Given the description of an element on the screen output the (x, y) to click on. 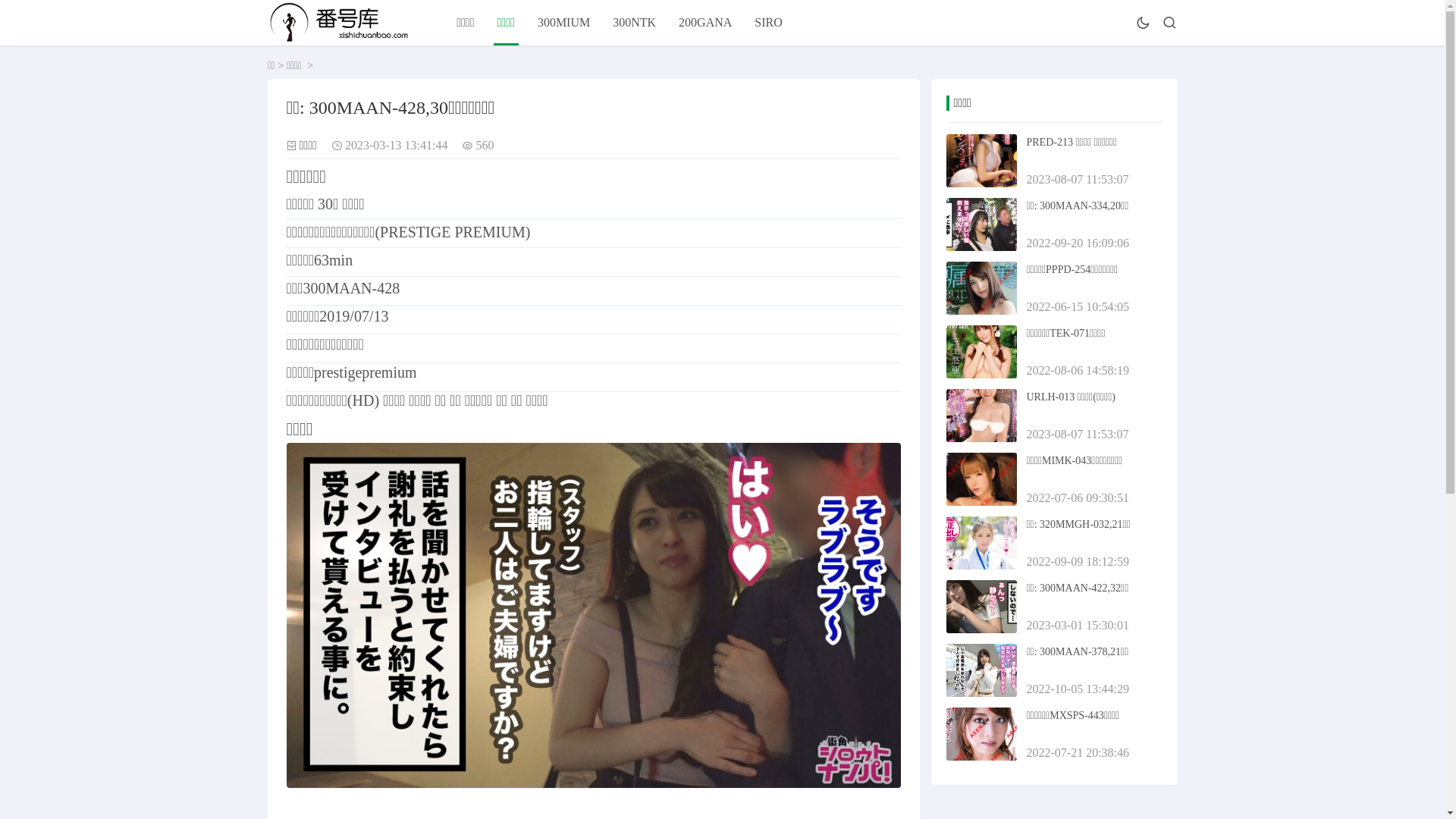
SIRO Element type: text (767, 21)
300MIUM Element type: text (563, 21)
200GANA Element type: text (704, 21)
300NTK Element type: text (633, 21)
